Given the description of an element on the screen output the (x, y) to click on. 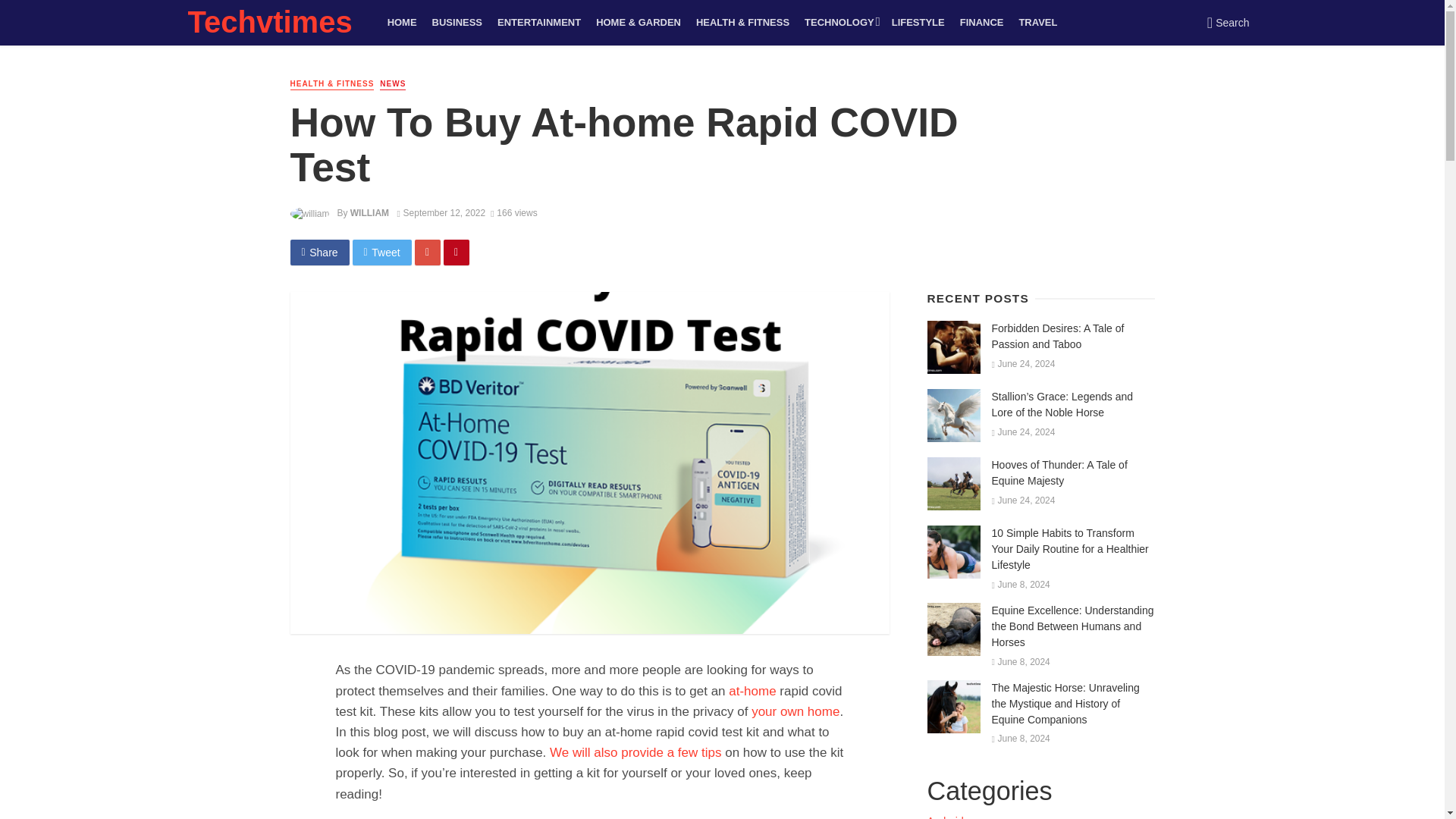
Tweet (382, 252)
BUSINESS (457, 22)
your own home (795, 711)
NEWS (393, 84)
Posts by william (369, 213)
Techvtimes (269, 28)
September 12, 2022 at 9:45 am (441, 213)
We will also provide a few tips (635, 752)
FINANCE (981, 22)
LIFESTYLE (917, 22)
